Given the description of an element on the screen output the (x, y) to click on. 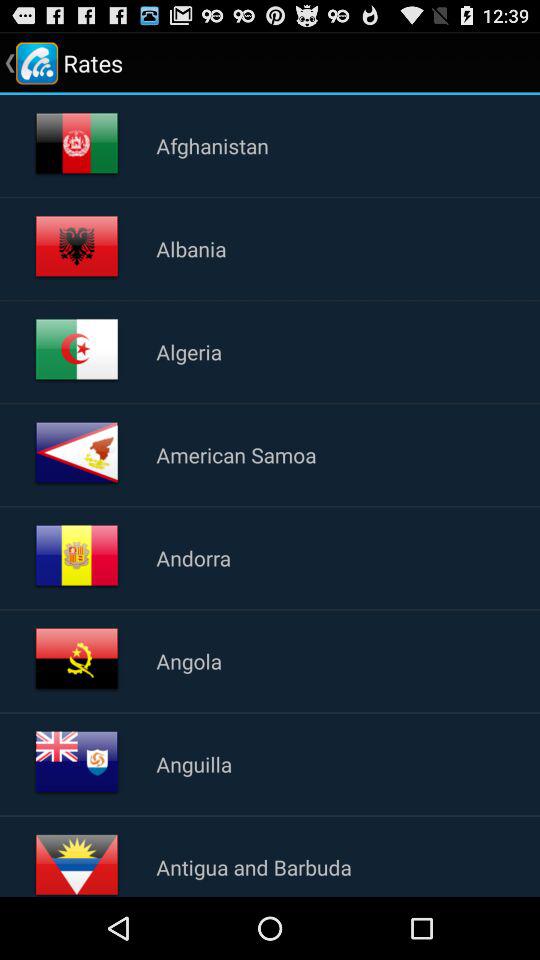
scroll until algeria app (189, 351)
